Given the description of an element on the screen output the (x, y) to click on. 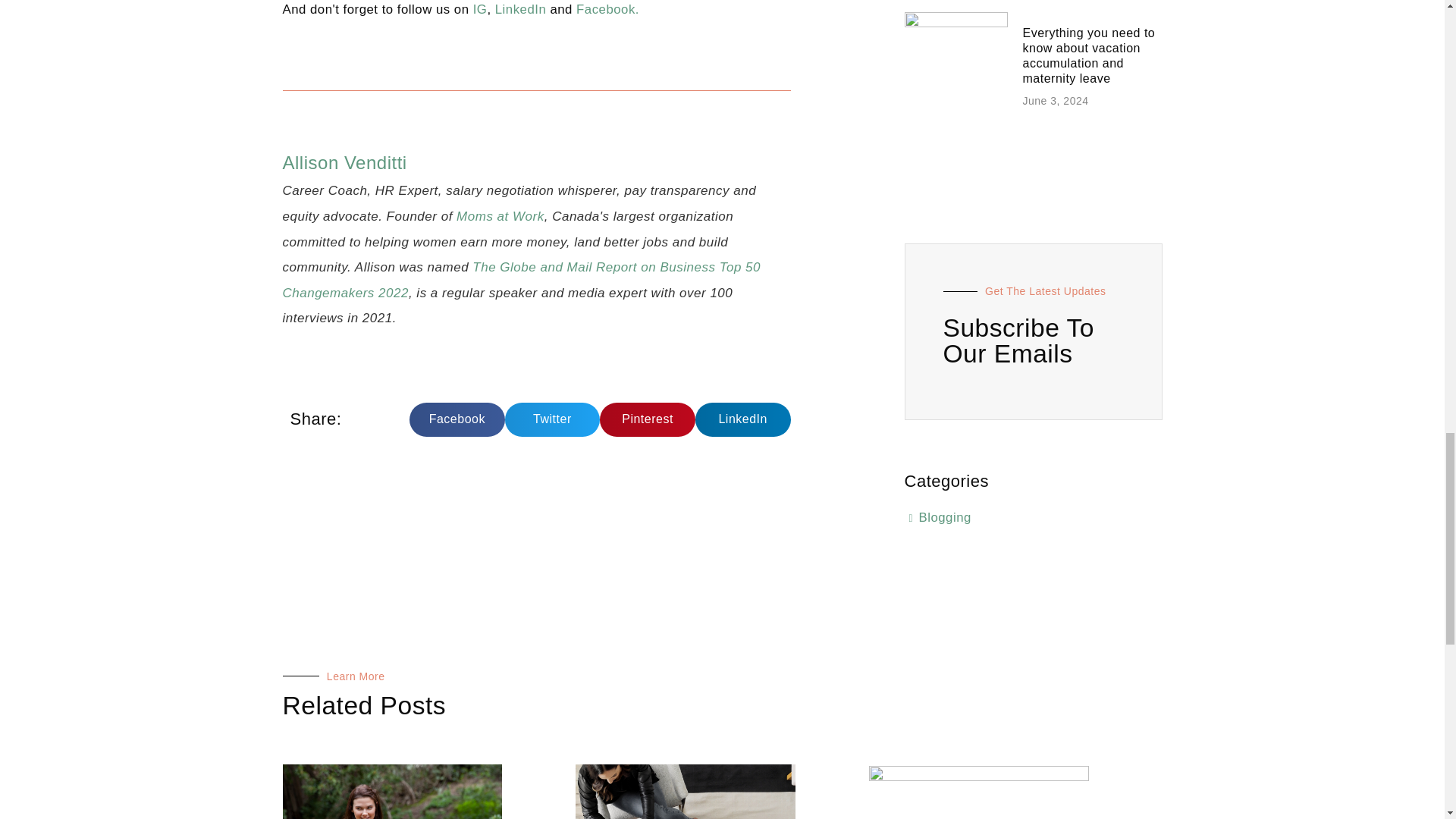
IG (480, 9)
Facebook. (607, 9)
Moms at Work (500, 216)
LinkedIn (520, 9)
